Given the description of an element on the screen output the (x, y) to click on. 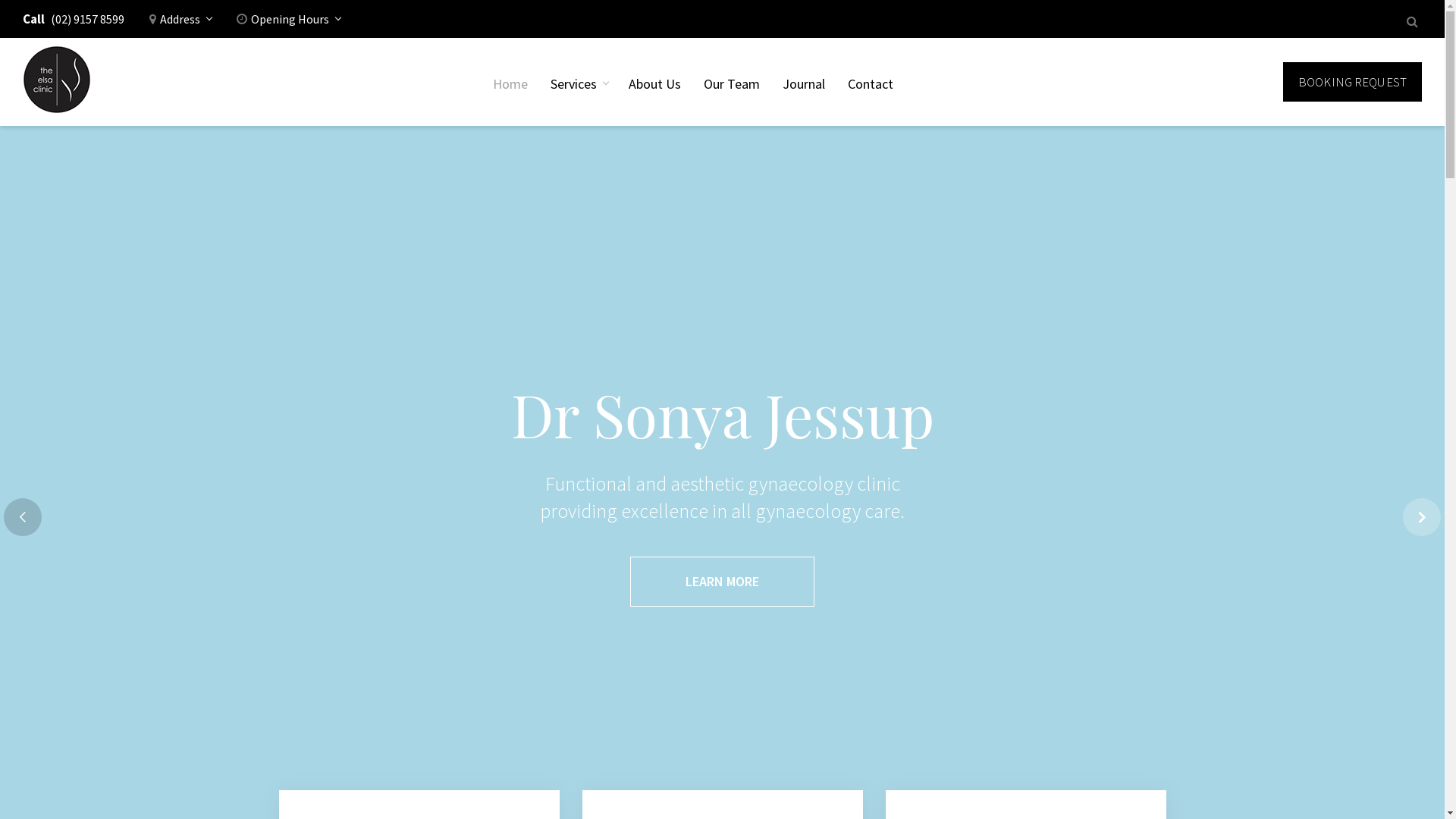
Our Team Element type: text (731, 81)
Contact Element type: text (870, 81)
Parramatta Dental Avenue Element type: hover (56, 81)
Home Element type: text (510, 81)
Journal Element type: text (803, 81)
(02) 9157 8599 Element type: text (87, 23)
Services Element type: text (577, 81)
Opening Hours Element type: text (288, 23)
LEARN MORE Element type: text (722, 581)
Address Element type: text (180, 23)
About Us Element type: text (654, 81)
BOOKING REQUEST Element type: text (1352, 81)
